Given the description of an element on the screen output the (x, y) to click on. 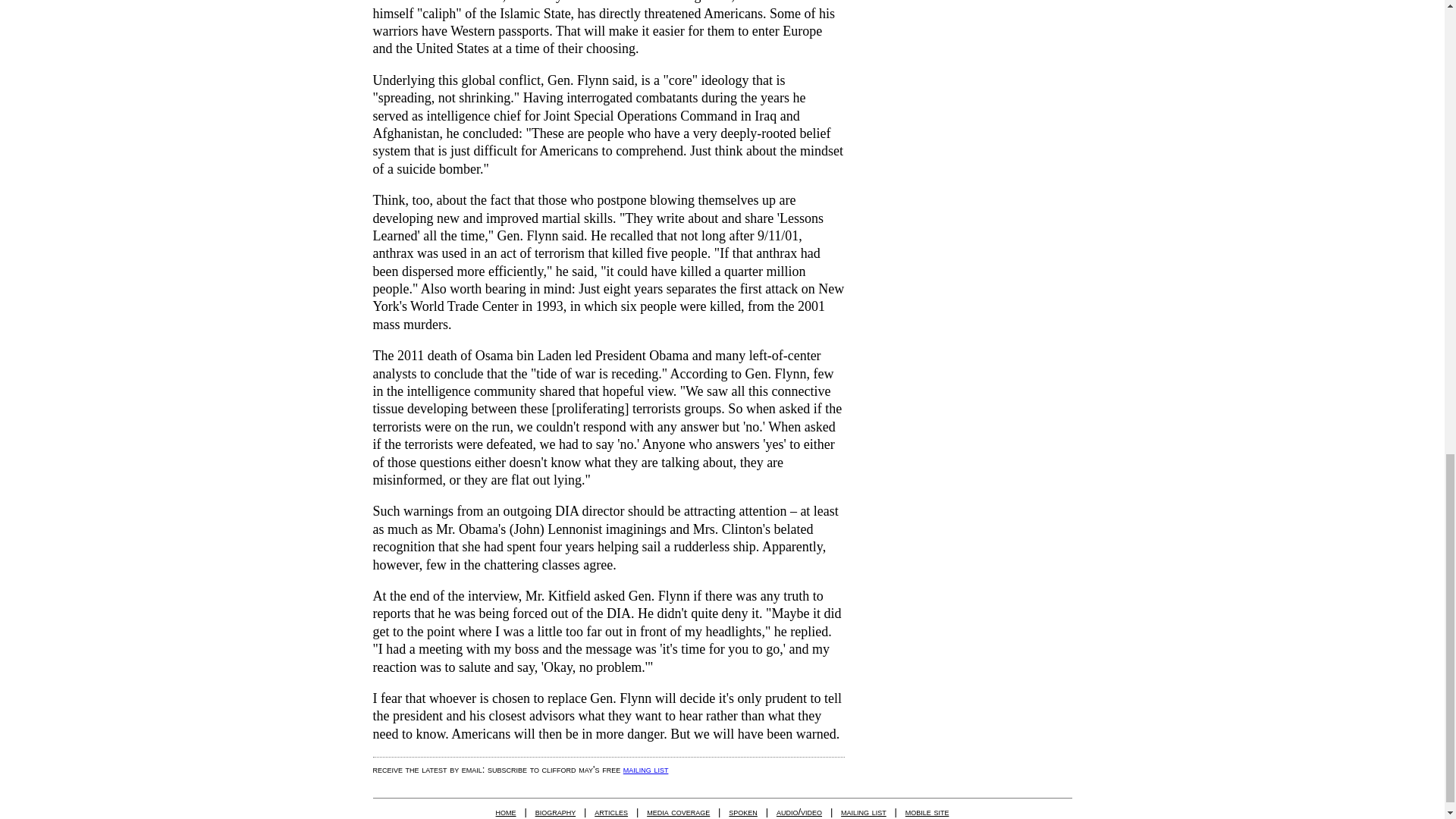
media coverage (678, 811)
articles (610, 811)
home (506, 811)
mailing list (645, 768)
biography (555, 811)
